Given the description of an element on the screen output the (x, y) to click on. 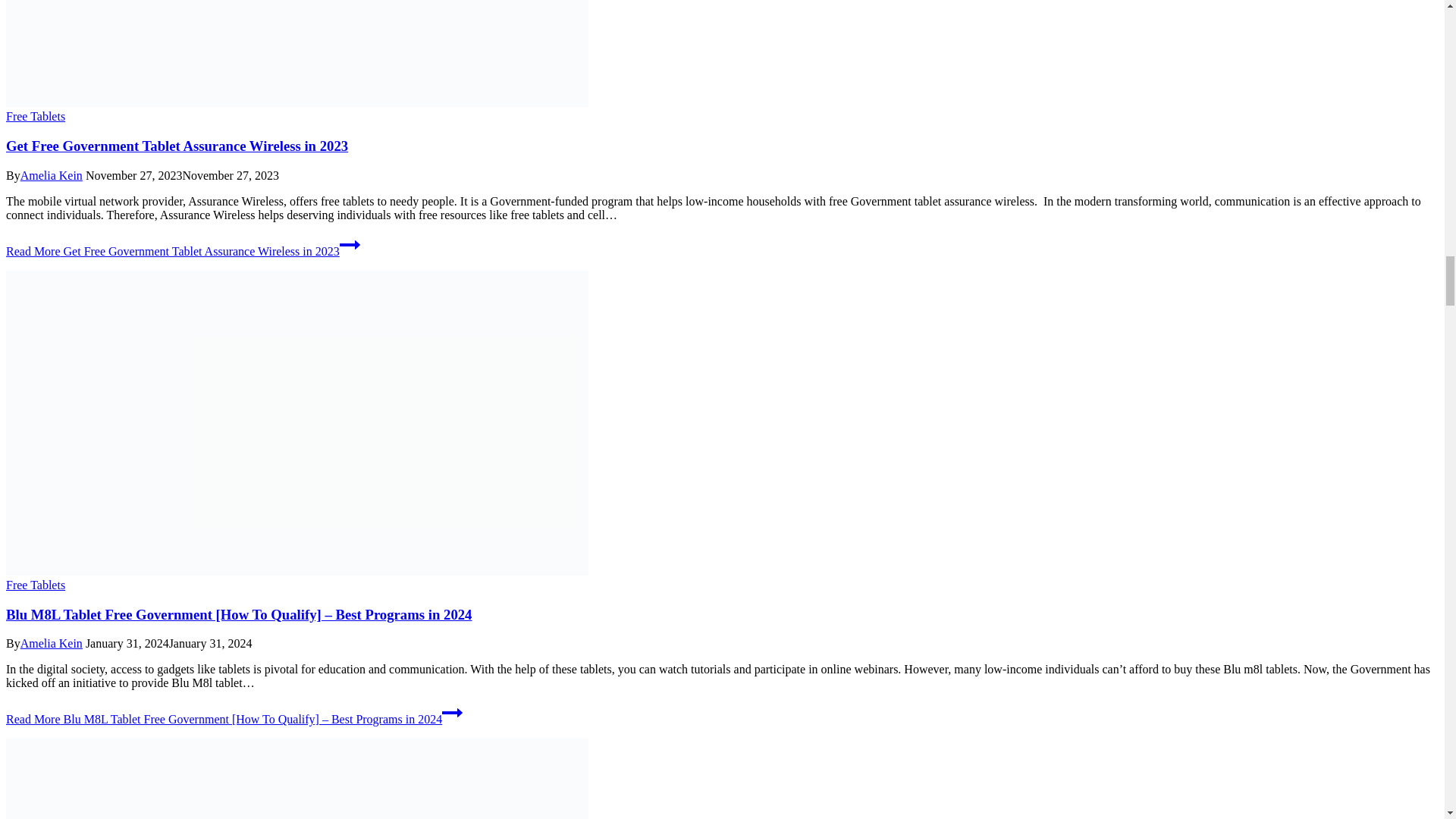
Get Free Government Tablet Assurance Wireless in 2023 2 (296, 53)
Continue (452, 712)
Continue (349, 244)
